Given the description of an element on the screen output the (x, y) to click on. 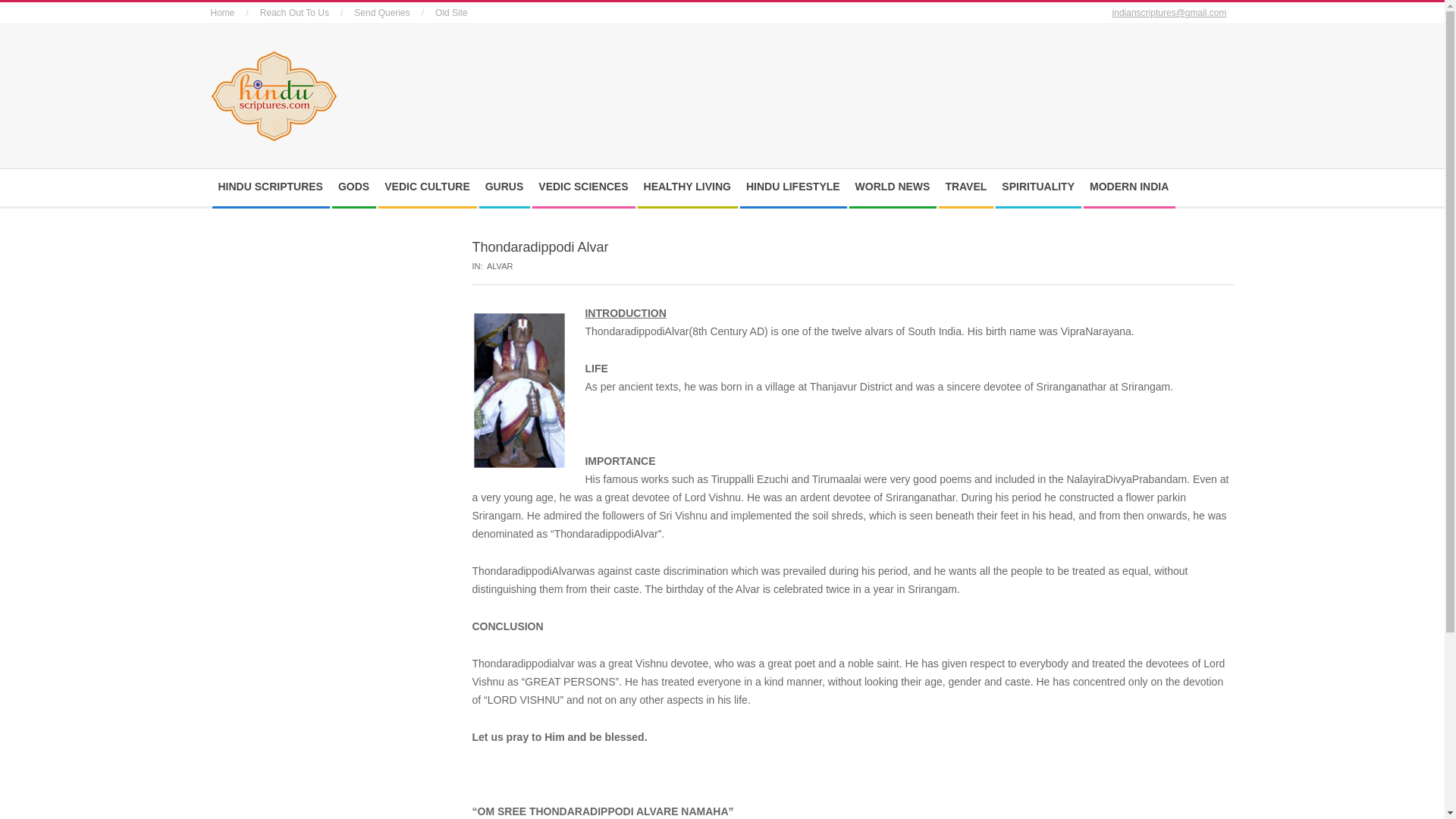
VEDIC CULTURE (430, 187)
HINDU SCRIPTURES (274, 187)
Old Site (451, 12)
Reach Out To Us (294, 12)
Home (222, 12)
GODS (357, 187)
Send Queries (381, 12)
